Given the description of an element on the screen output the (x, y) to click on. 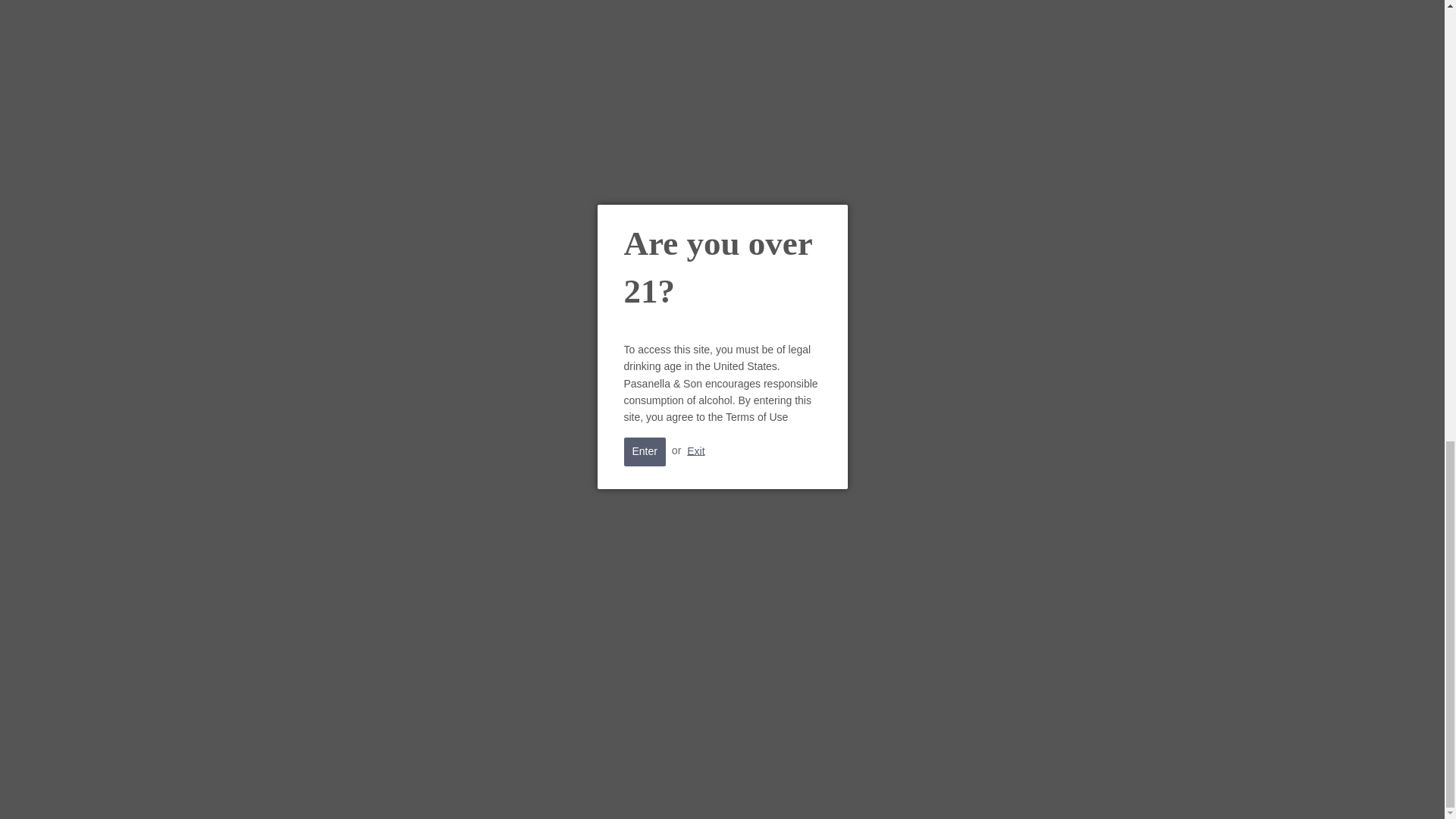
SHOP PAY (851, 782)
AMERICAN EXPRESS (507, 782)
Subscribe (987, 657)
META PAY (679, 782)
DISCOVER (635, 782)
PAYPAL (807, 782)
VISA (937, 782)
APPLE PAY (549, 782)
DINERS CLUB (592, 782)
MASTERCARD (764, 782)
VENMO (894, 782)
GOOGLE PAY (721, 782)
